Given the description of an element on the screen output the (x, y) to click on. 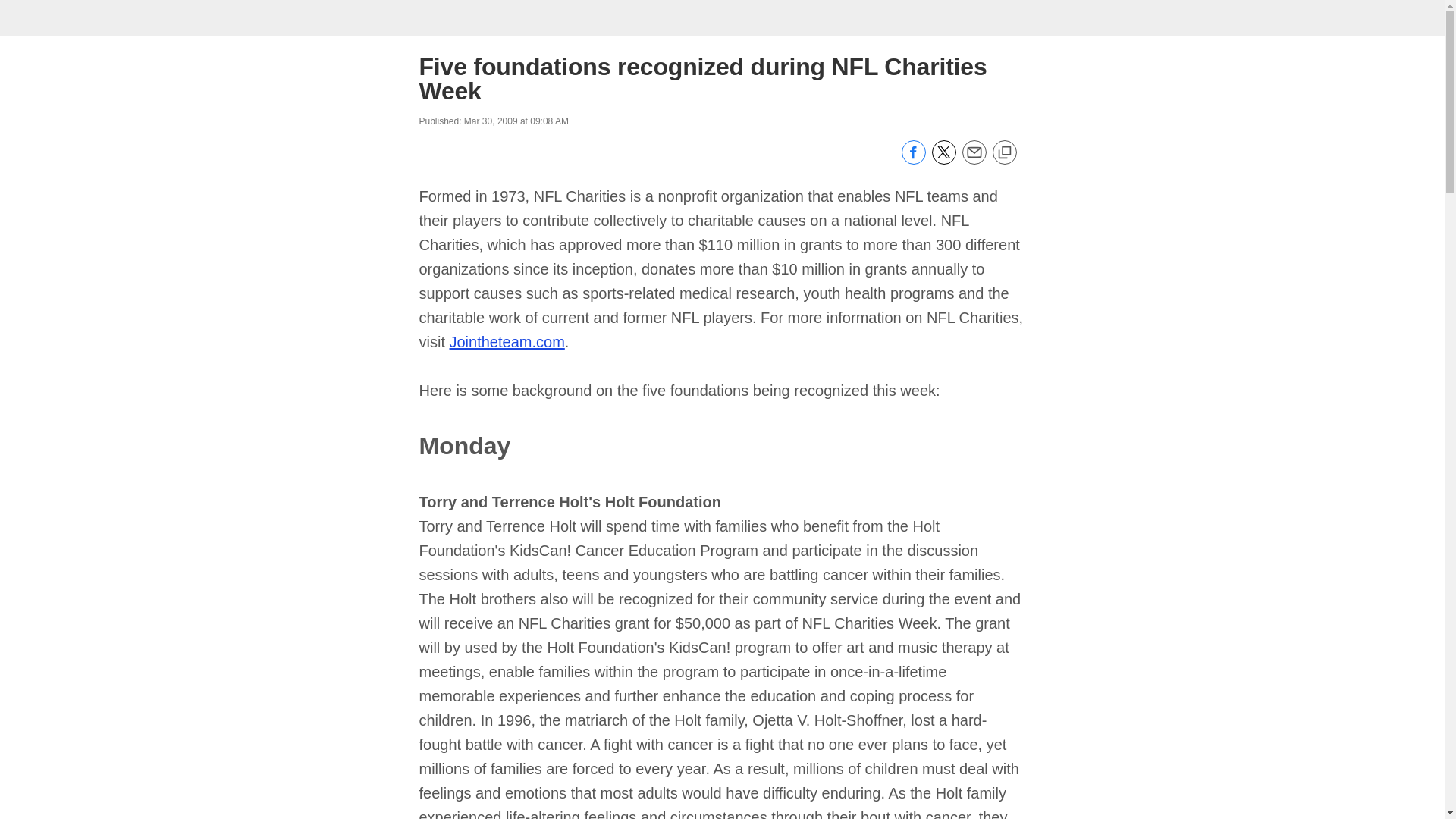
Share on Facebook (912, 160)
Send email (972, 160)
Share on Twitter (943, 160)
Jointheteam.com (506, 341)
Copy link (1003, 153)
